Given the description of an element on the screen output the (x, y) to click on. 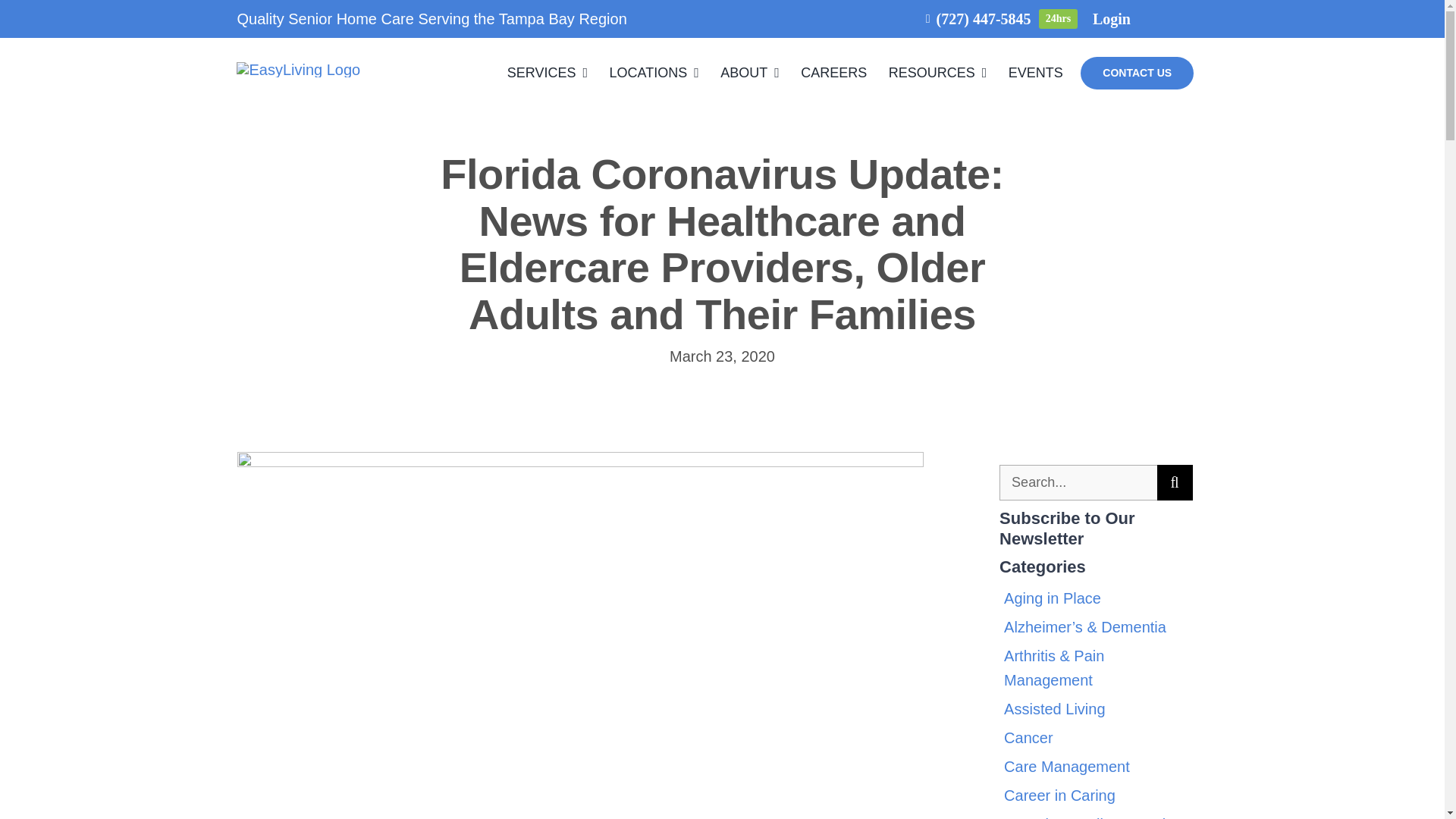
SERVICES (547, 72)
LOCATIONS (653, 72)
ABOUT (749, 72)
